Given the description of an element on the screen output the (x, y) to click on. 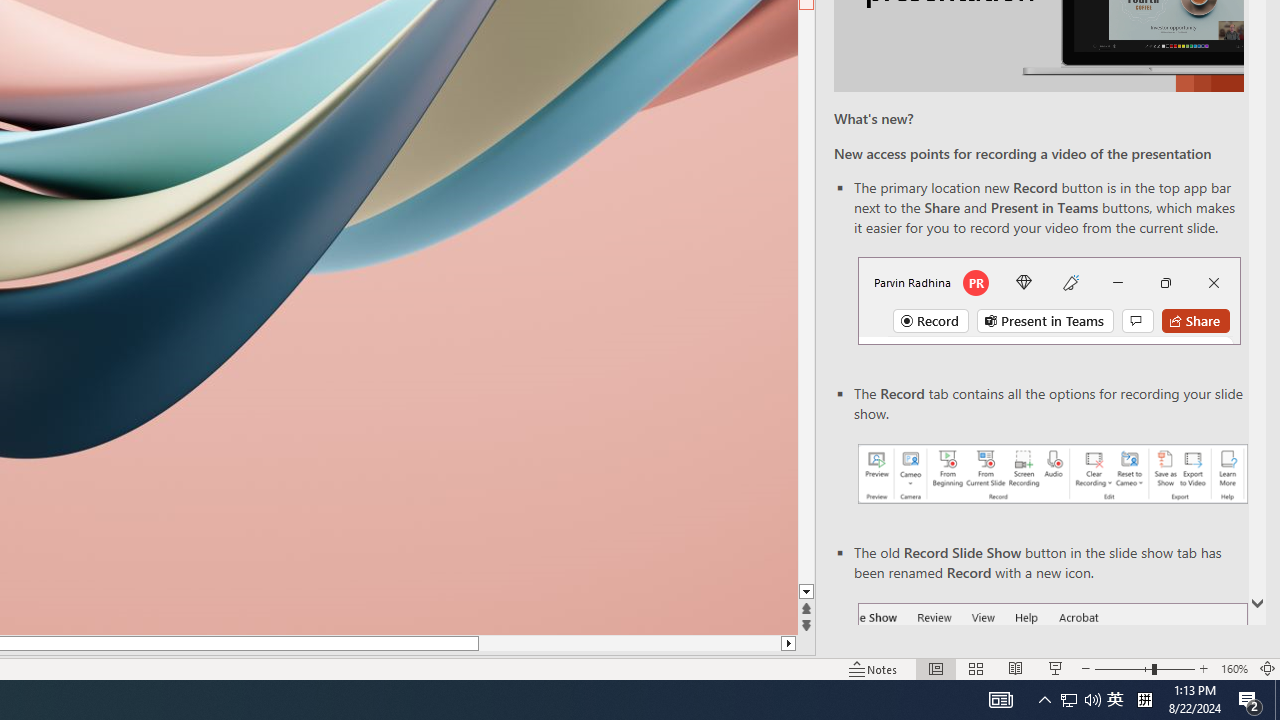
Zoom 160% (1234, 668)
Record your presentations screenshot one (1052, 473)
Record button in top bar (1049, 300)
